Given the description of an element on the screen output the (x, y) to click on. 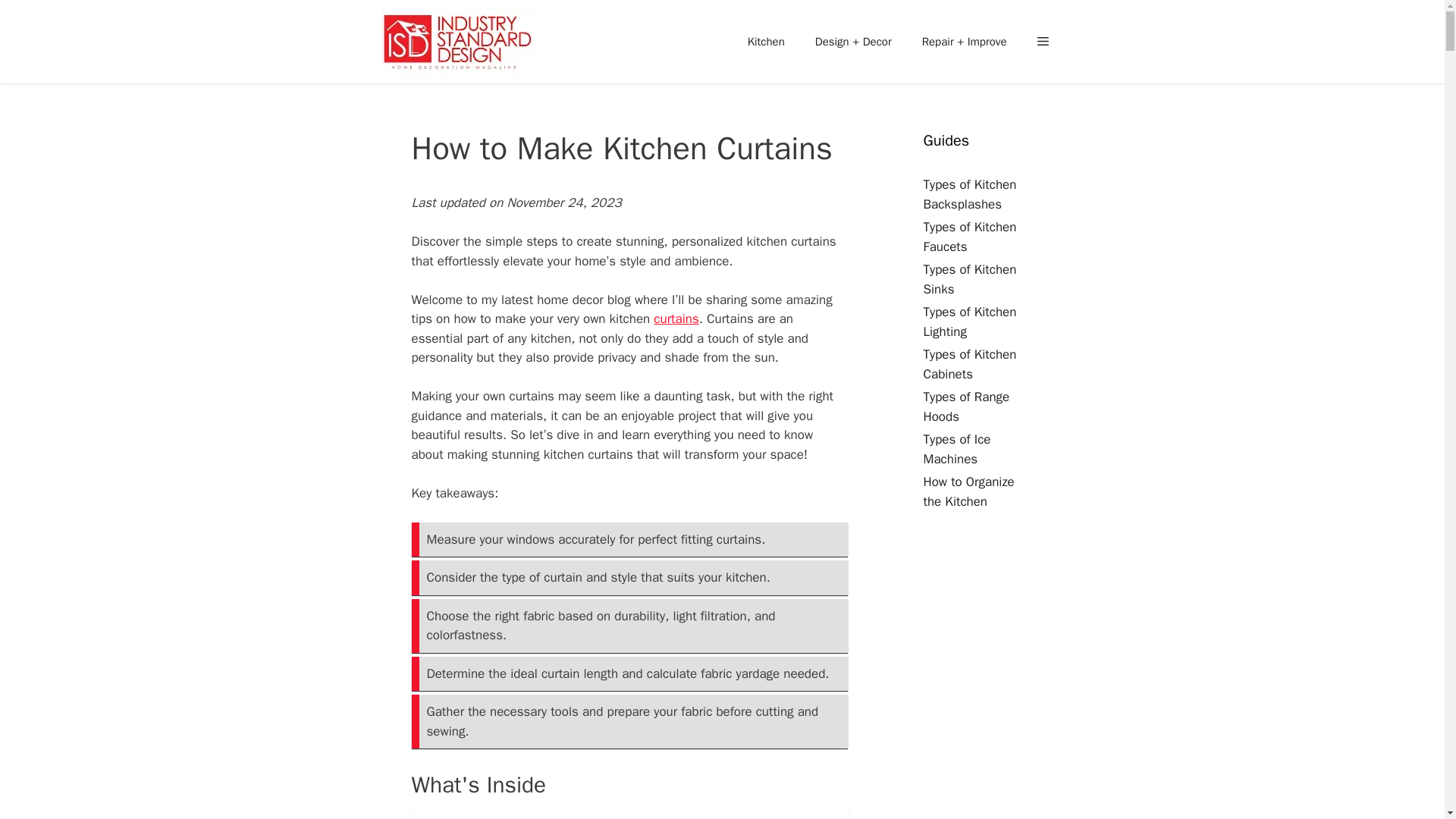
curtains (675, 318)
Industry Standard Design (460, 41)
Kitchen (765, 41)
Industry Standard Design (456, 41)
